Given the description of an element on the screen output the (x, y) to click on. 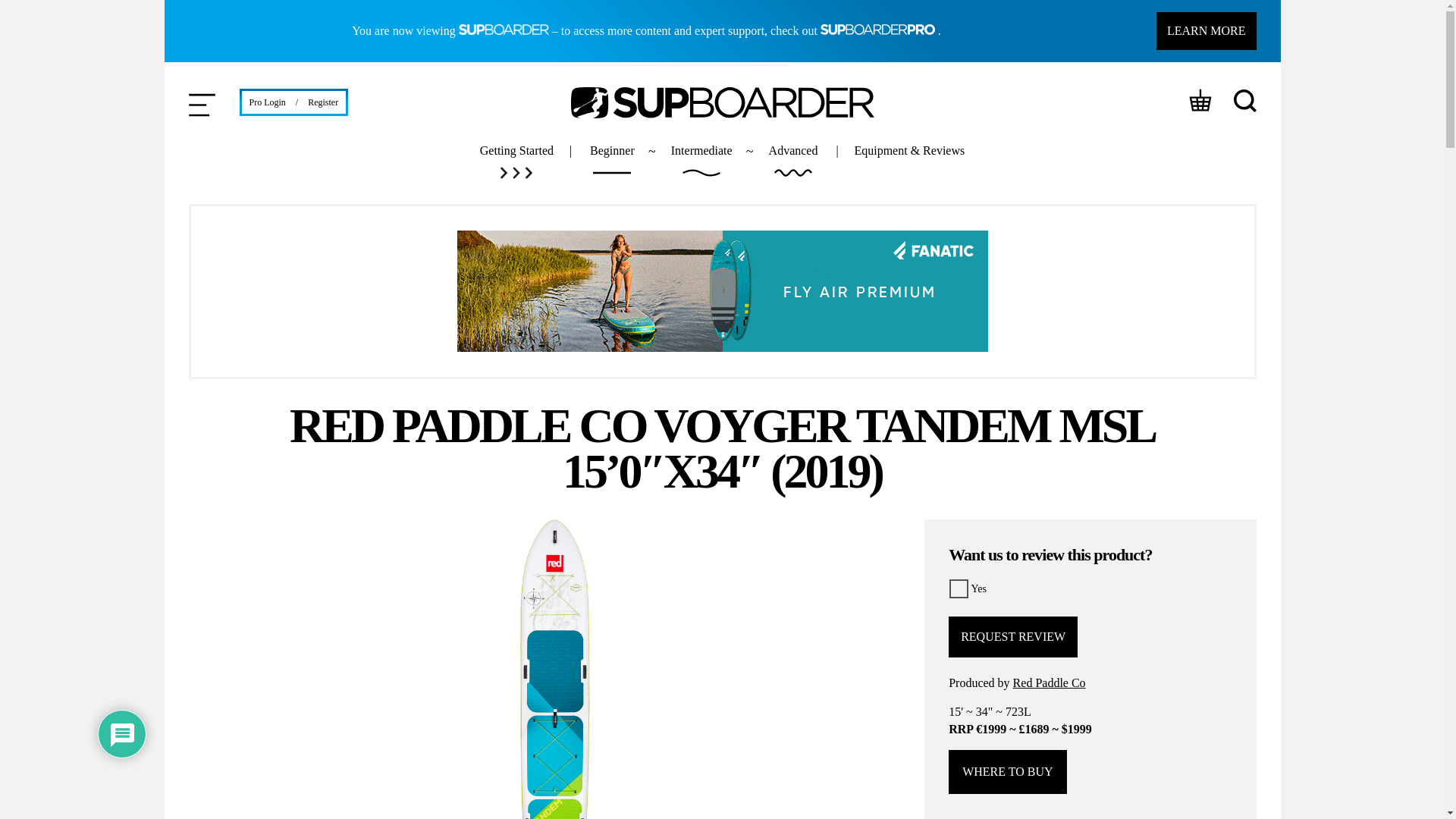
Beginner (611, 161)
Advanced (793, 161)
Log In (221, 418)
Yes (958, 588)
Getting Started (516, 161)
View your shopping cart (1202, 102)
Intermediate (701, 161)
SUPboarder Magazine (721, 101)
Request Review (1013, 636)
